Given the description of an element on the screen output the (x, y) to click on. 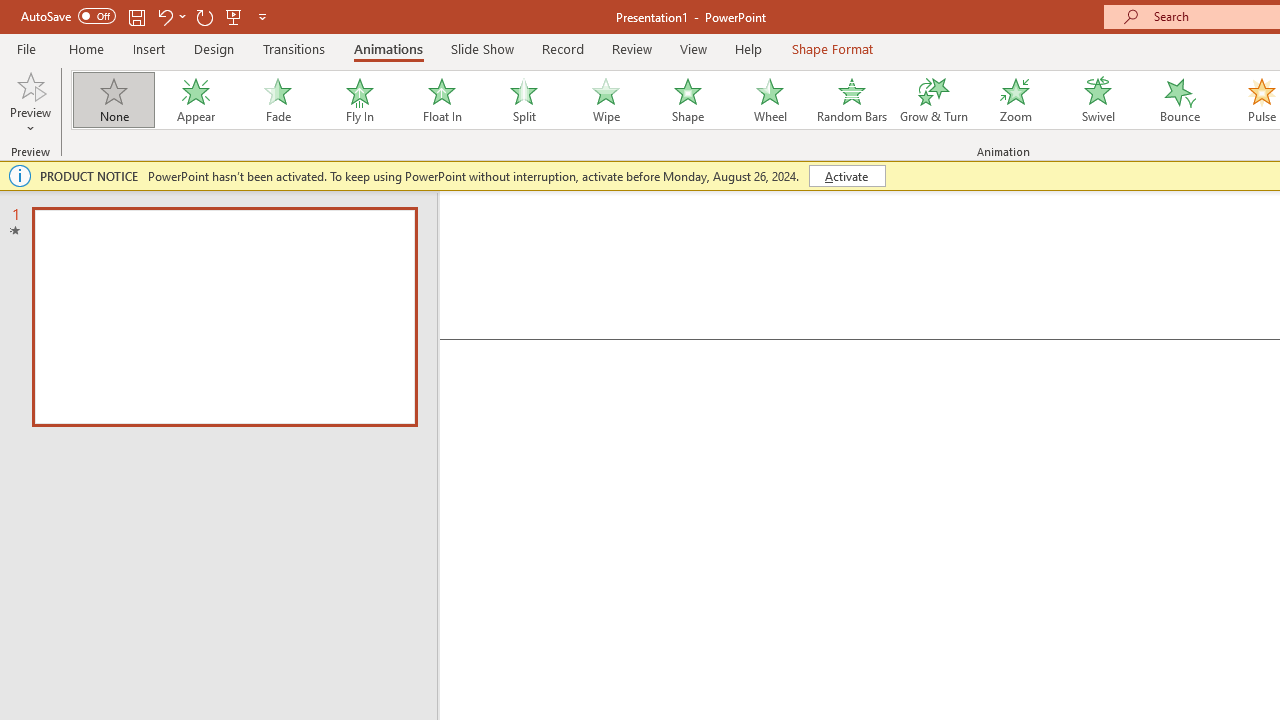
Float In (441, 100)
Appear (195, 100)
Bounce (1180, 100)
Wipe (605, 100)
Random Bars (852, 100)
